Given the description of an element on the screen output the (x, y) to click on. 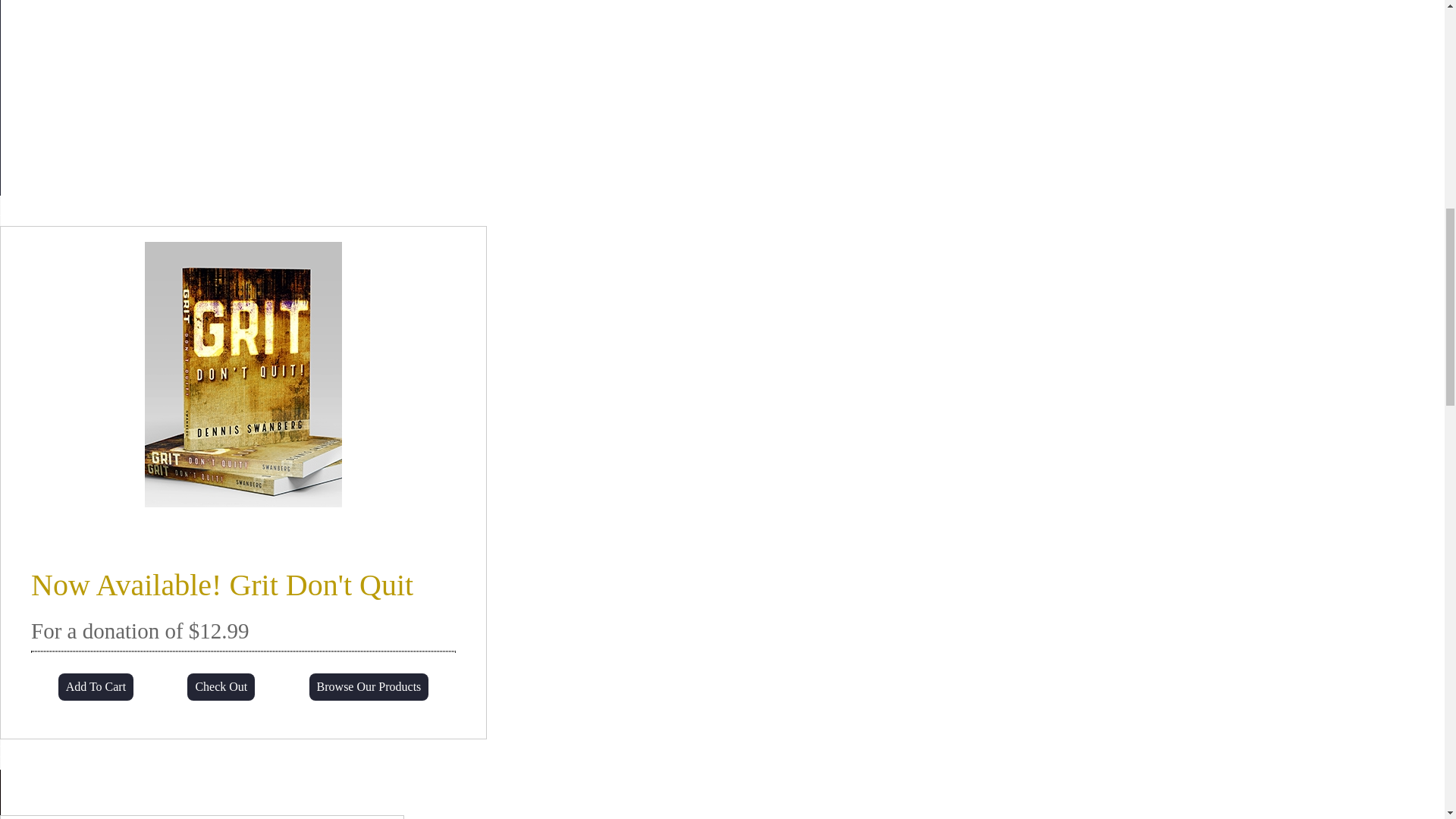
Now Available! Grit Don't Quit (221, 584)
Add To Cart (95, 687)
Check Out (220, 687)
Add To Cart (95, 687)
Browse Our Products (368, 687)
Check Out (220, 687)
